Given the description of an element on the screen output the (x, y) to click on. 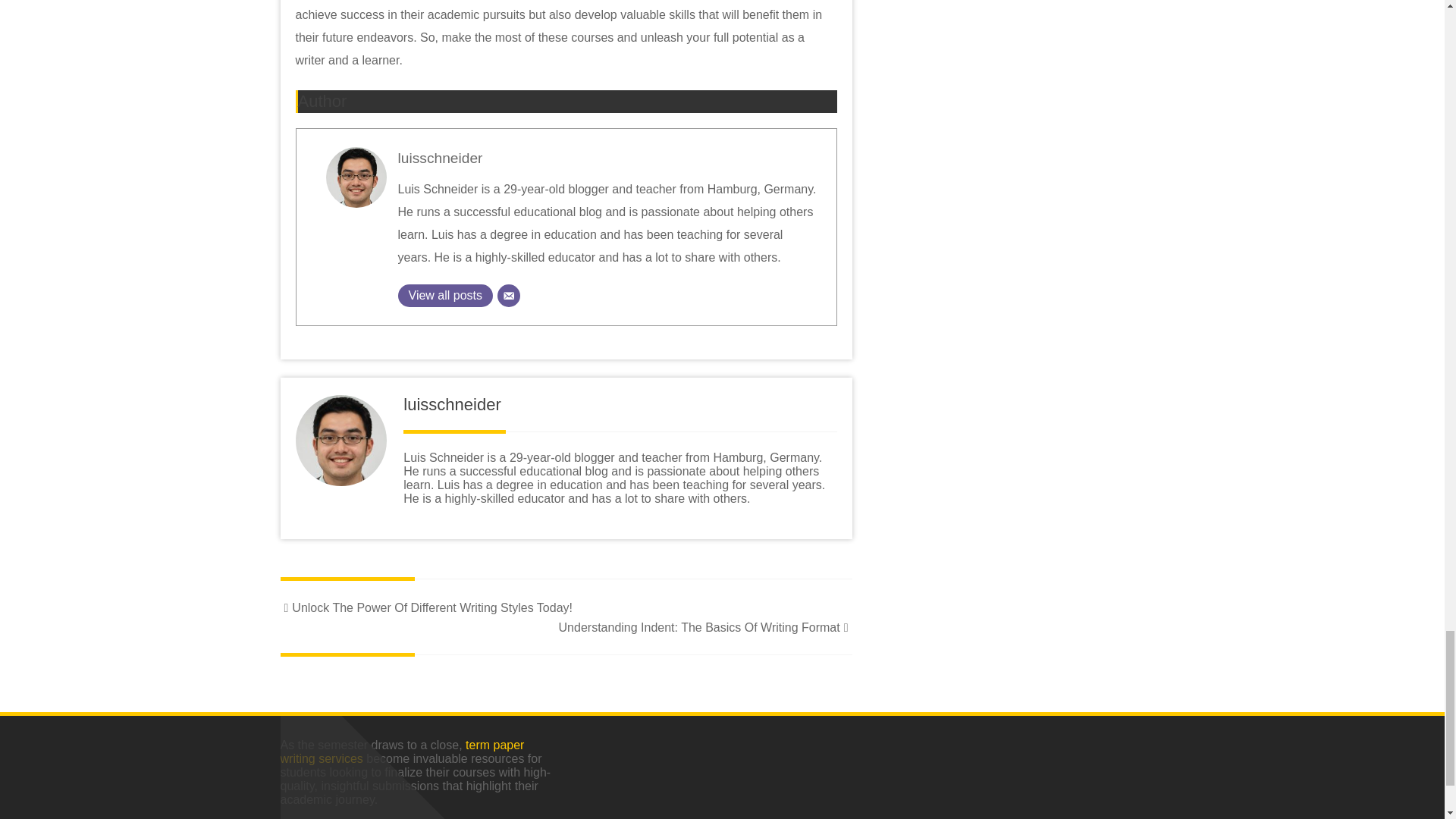
term paper writing services (402, 751)
Unlock The Power Of Different Writing Styles Today! (426, 607)
luisschneider (439, 157)
View all posts (445, 295)
luisschneider (439, 157)
View all posts (445, 295)
Understanding Indent: The Basics Of Writing Format (705, 626)
